Given the description of an element on the screen output the (x, y) to click on. 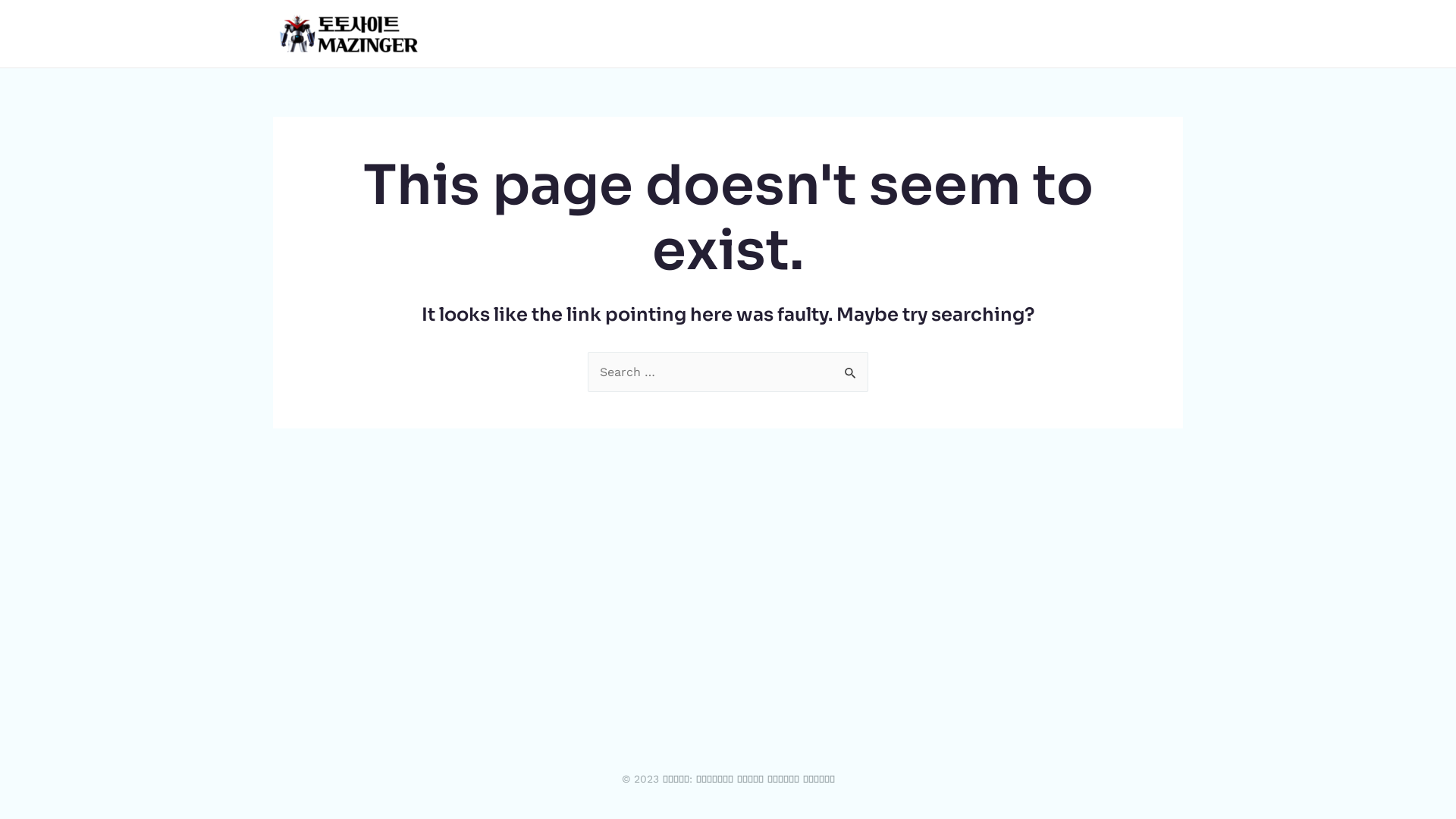
Search Element type: text (851, 367)
